Given the description of an element on the screen output the (x, y) to click on. 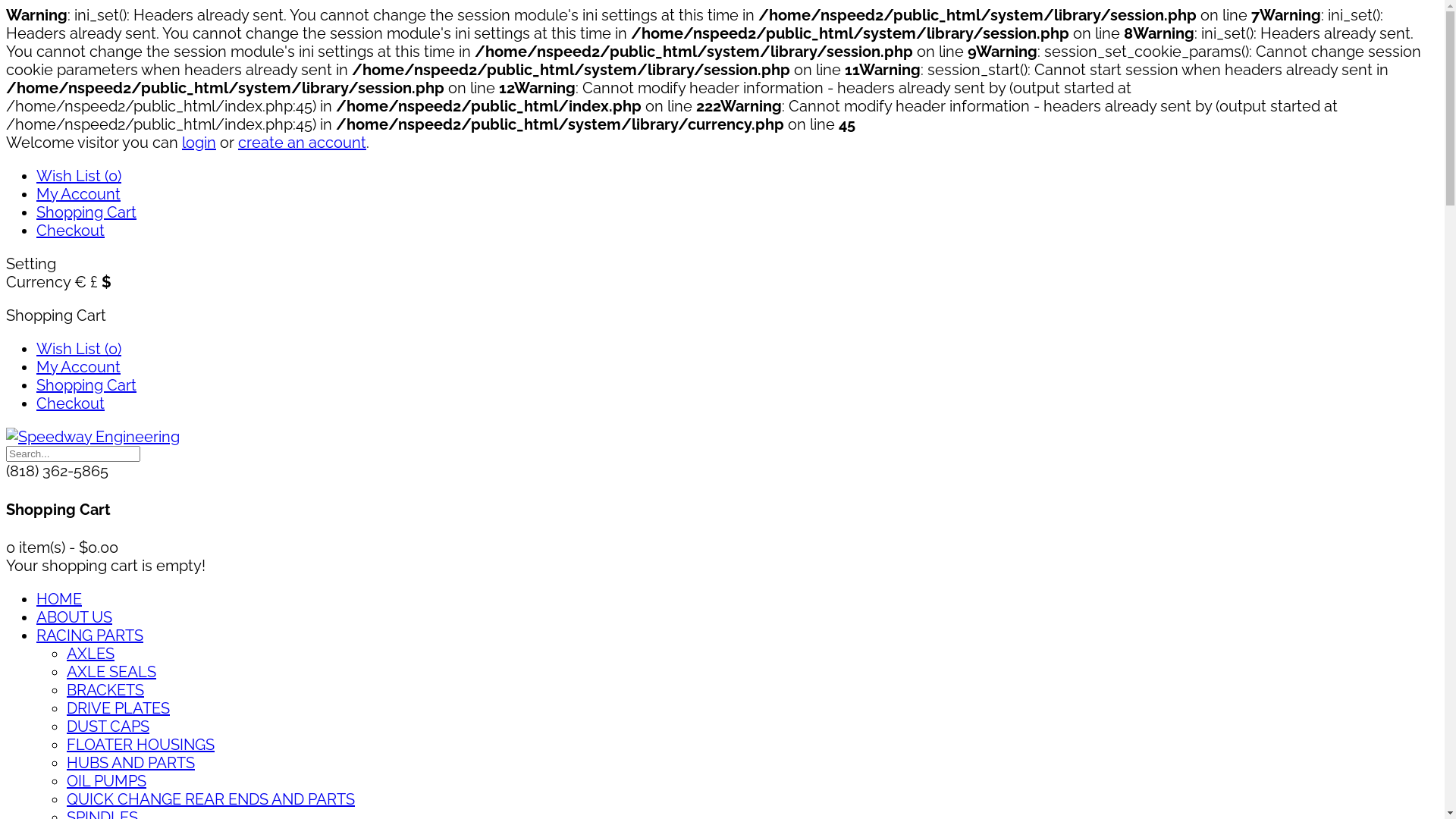
Wish List (0) Element type: text (78, 348)
AXLE SEALS Element type: text (111, 671)
HOME Element type: text (58, 598)
FLOATER HOUSINGS Element type: text (140, 744)
Speedway Engineering Element type: hover (92, 436)
DRIVE PLATES Element type: text (117, 708)
DUST CAPS Element type: text (107, 726)
Checkout Element type: text (70, 403)
HUBS AND PARTS Element type: text (130, 762)
Shopping Cart Element type: text (86, 385)
RACING PARTS Element type: text (89, 635)
create an account Element type: text (302, 142)
Wish List (0) Element type: text (78, 175)
Shopping Cart Element type: text (86, 212)
My Account Element type: text (78, 194)
login Element type: text (199, 142)
My Account Element type: text (78, 366)
QUICK CHANGE REAR ENDS AND PARTS Element type: text (210, 799)
OIL PUMPS Element type: text (106, 780)
$ Element type: text (106, 282)
BRACKETS Element type: text (105, 689)
AXLES Element type: text (90, 653)
ABOUT US Element type: text (74, 617)
Checkout Element type: text (70, 230)
0 item(s) - $0.00 Element type: text (62, 547)
